Given the description of an element on the screen output the (x, y) to click on. 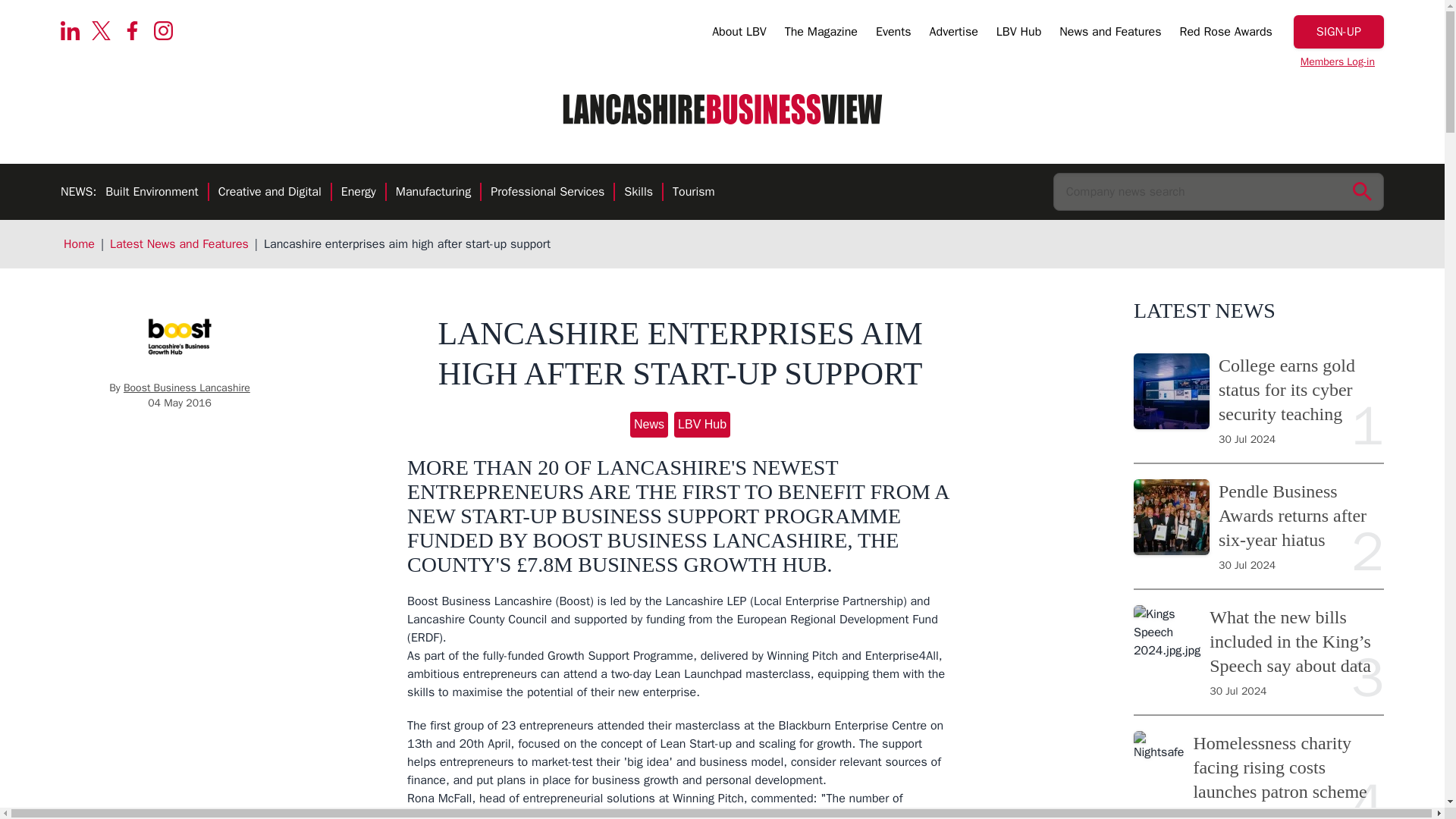
News and Features (1109, 34)
Manufacturing (433, 192)
Tourism (693, 192)
Red Rose Awards (1225, 34)
Skills (638, 192)
The Magazine (820, 34)
Advertise (954, 34)
LBV Hub (1018, 34)
About LBV (739, 34)
Built Environment (151, 192)
Creative and Digital (269, 192)
Energy (357, 192)
SIGN-UP (1339, 31)
Events (893, 34)
Professional Services (547, 192)
